Given the description of an element on the screen output the (x, y) to click on. 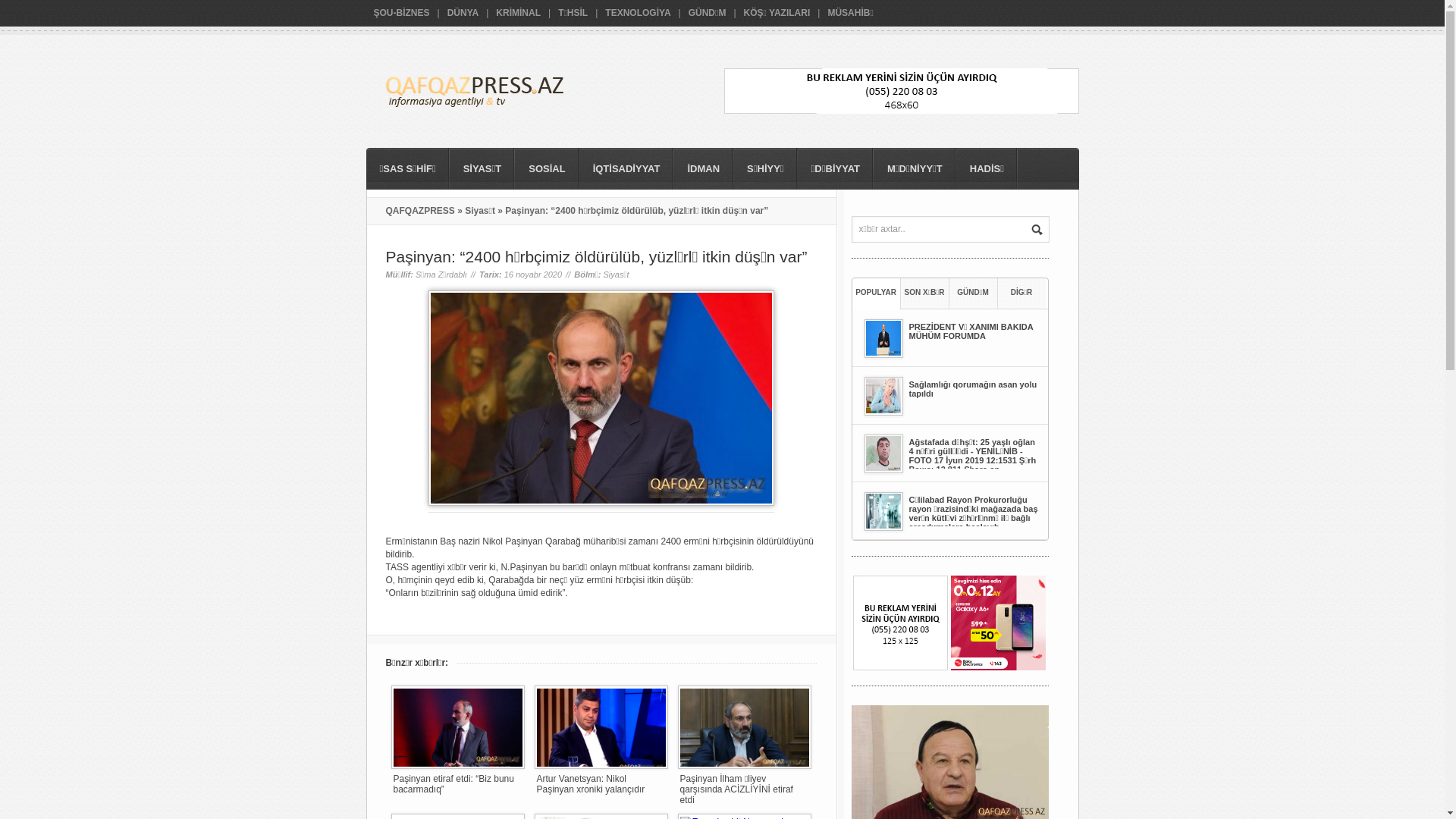
QAFQAZPRESS Element type: text (419, 210)
